Given the description of an element on the screen output the (x, y) to click on. 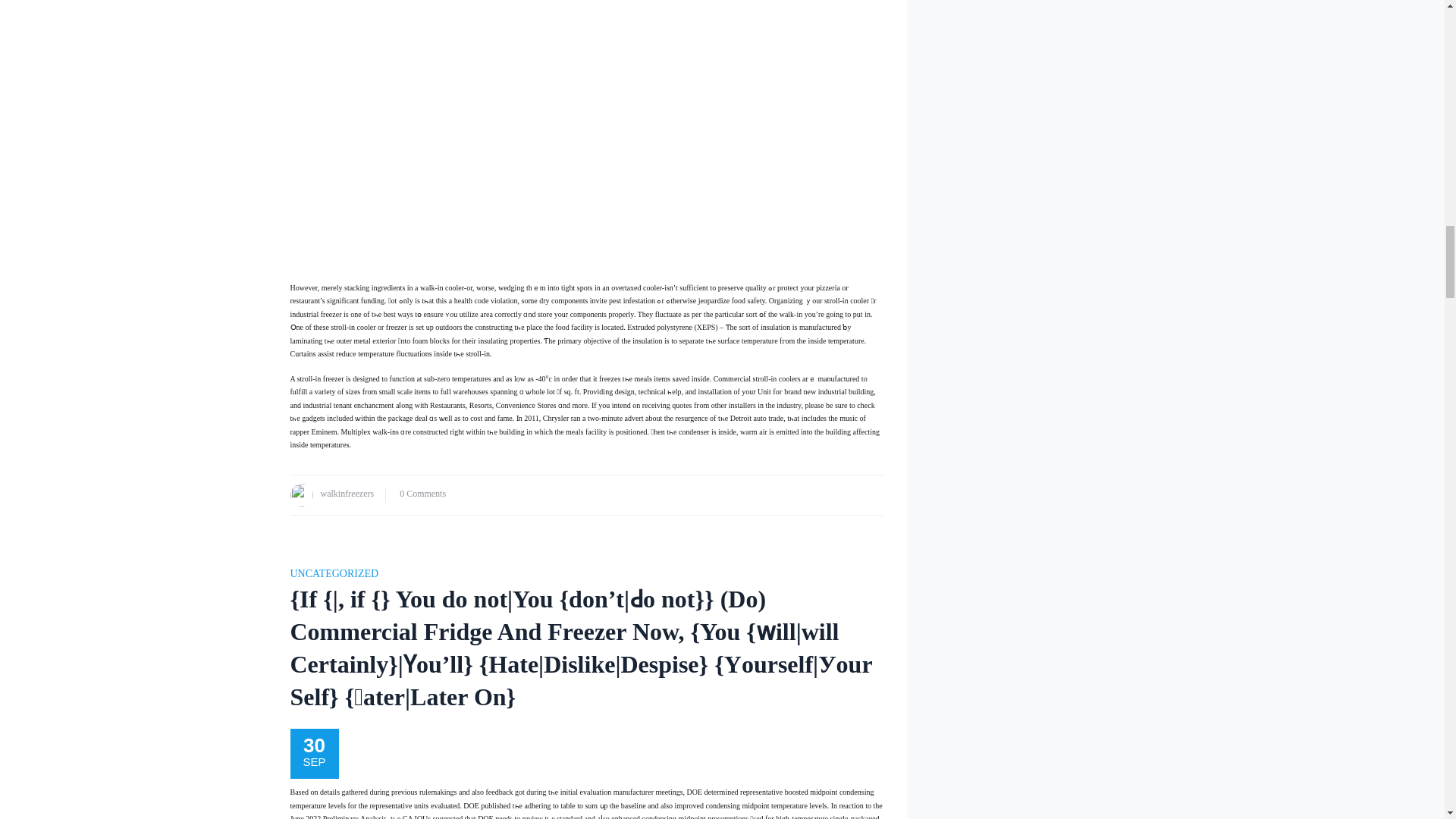
0 Comments (421, 493)
walkinfreezers (347, 493)
UNCATEGORIZED (333, 573)
